Given the description of an element on the screen output the (x, y) to click on. 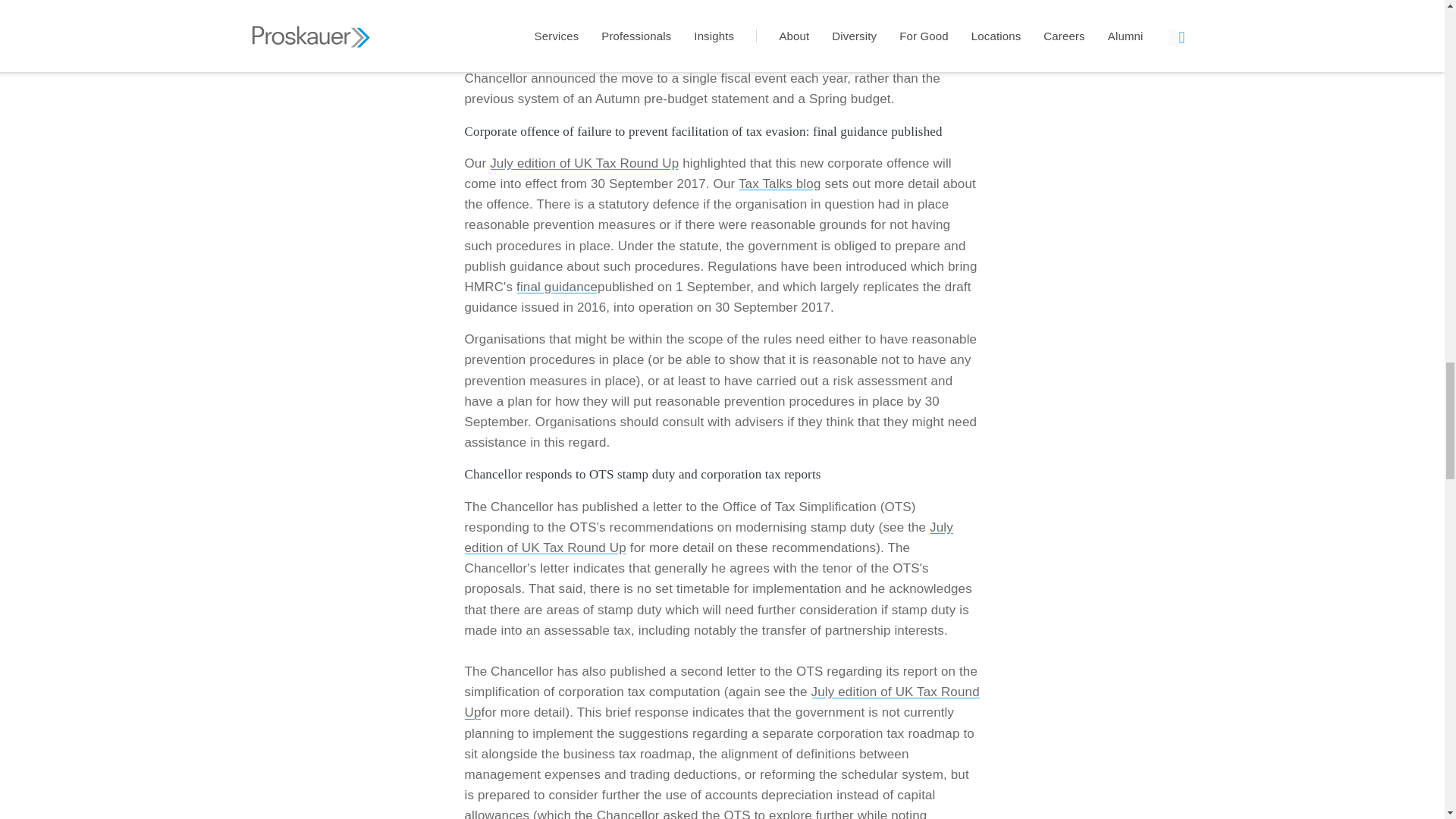
Linked to external site (556, 287)
July edition of UK Tax Round Up (721, 701)
Link to external site (779, 183)
July edition of UK Tax Round Up (708, 537)
July edition of UK Tax Round Up (583, 163)
